Given the description of an element on the screen output the (x, y) to click on. 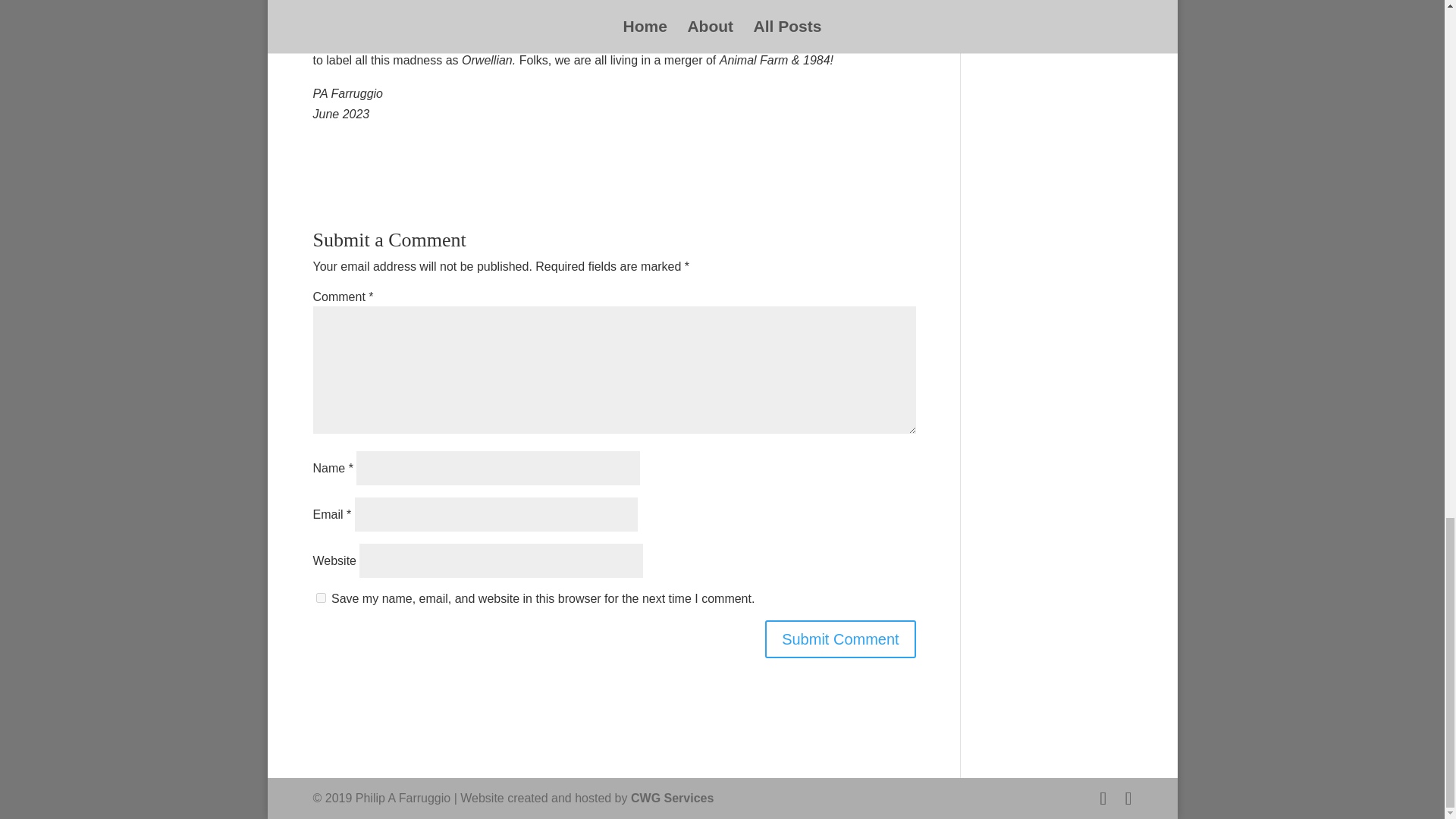
Submit Comment (840, 638)
CWG Services (671, 797)
yes (319, 597)
Submit Comment (840, 638)
